Given the description of an element on the screen output the (x, y) to click on. 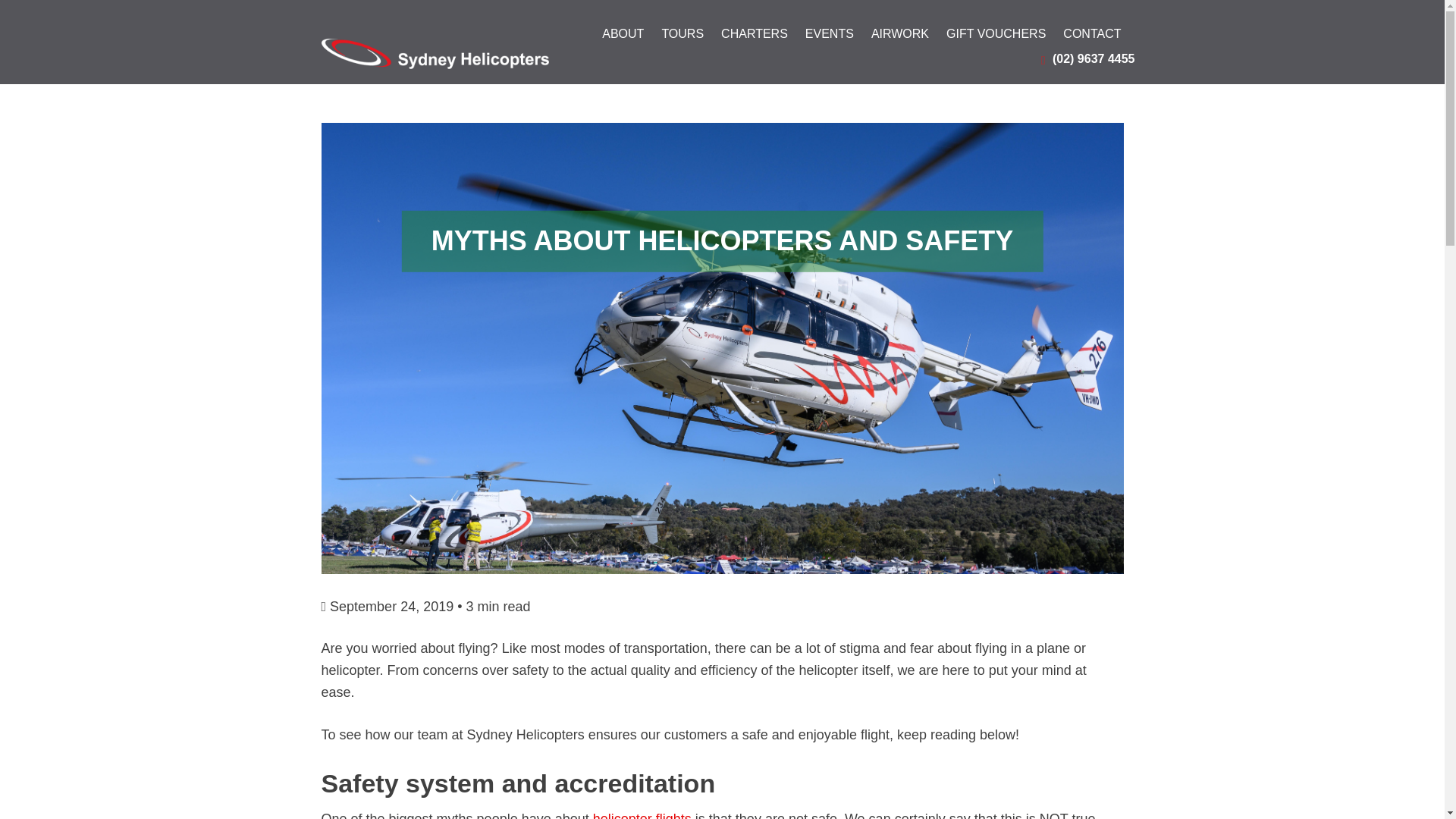
EVENTS (829, 37)
CHARTERS (753, 37)
AIRWORK (899, 37)
GIFT VOUCHERS (995, 37)
CONTACT (1091, 37)
helicopter flights (641, 815)
ABOUT (622, 37)
TOURS (682, 37)
